Given the description of an element on the screen output the (x, y) to click on. 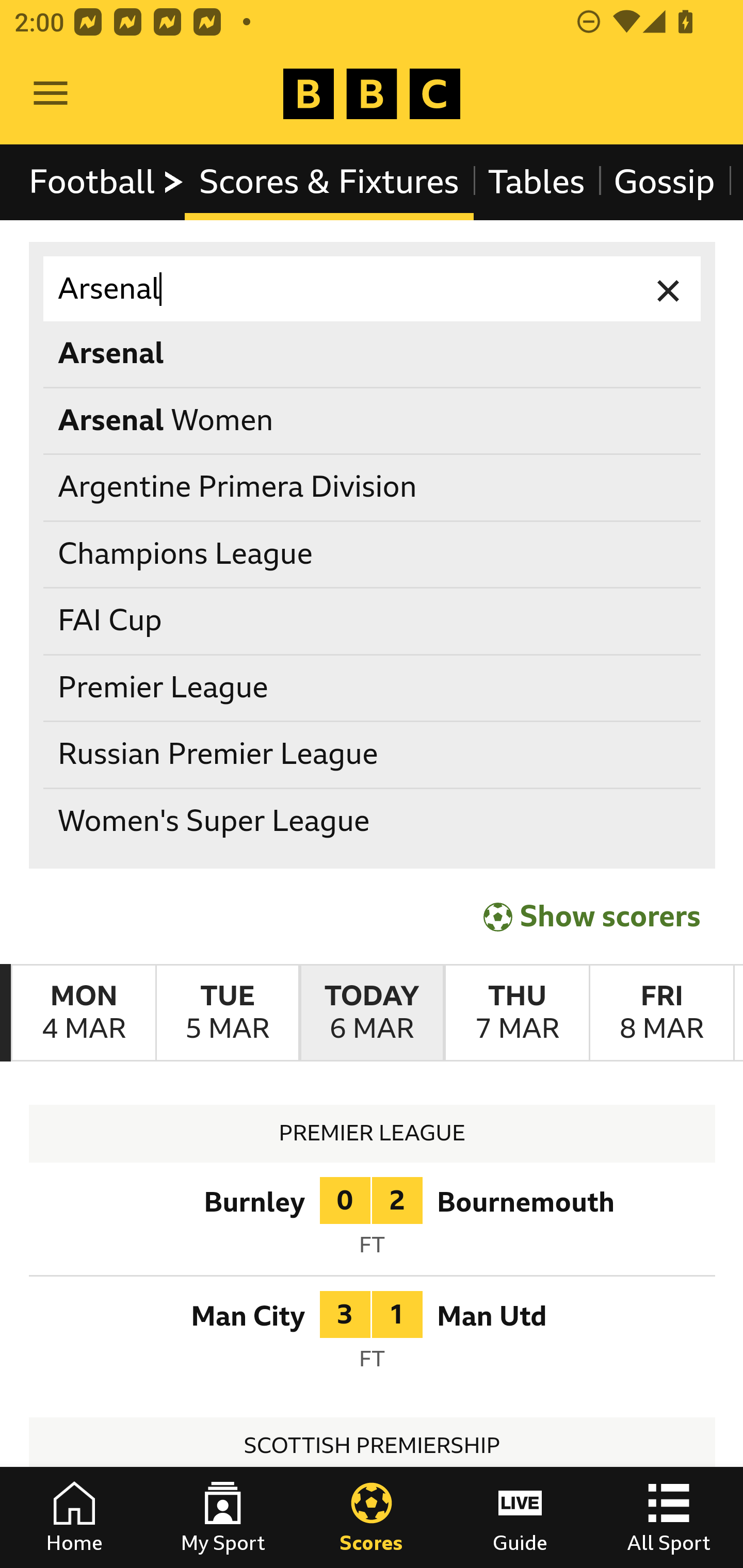
Open Menu (50, 93)
Football  (106, 181)
Scores & Fixtures (329, 181)
Tables (536, 181)
Gossip (664, 181)
Arsenal (372, 289)
Clear input (669, 289)
Arsenal (372, 353)
Arsenal Women Arsenal  Women (372, 419)
Argentine Primera Division (372, 488)
Champions League (372, 554)
FAI Cup (372, 620)
Premier League (372, 687)
Russian Premier League (372, 755)
Women's Super League (372, 821)
Show scorers (591, 916)
MondayMarch 4th Monday March 4th (83, 1012)
TuesdayMarch 5th Tuesday March 5th (227, 1012)
TodayMarch 6th Today March 6th (371, 1012)
ThursdayMarch 7th Thursday March 7th (516, 1012)
FridayMarch 8th Friday March 8th (661, 1012)
68395538 Burnley 0 AFC Bournemouth 2 Full Time (372, 1221)
Home (74, 1517)
My Sport (222, 1517)
Guide (519, 1517)
All Sport (668, 1517)
